Given the description of an element on the screen output the (x, y) to click on. 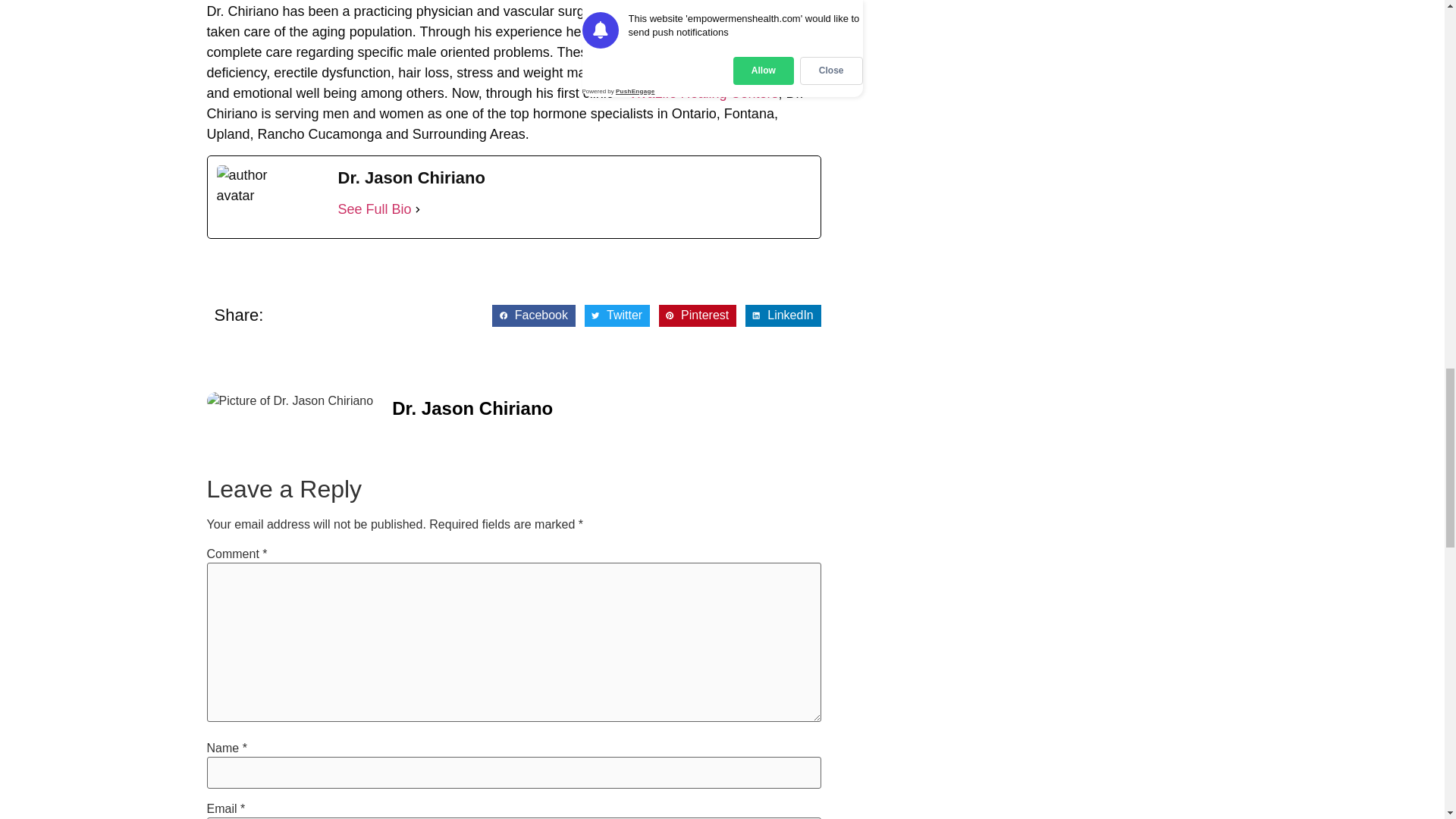
VivaLife Healing Centers (703, 92)
See Full Bio (374, 209)
